Given the description of an element on the screen output the (x, y) to click on. 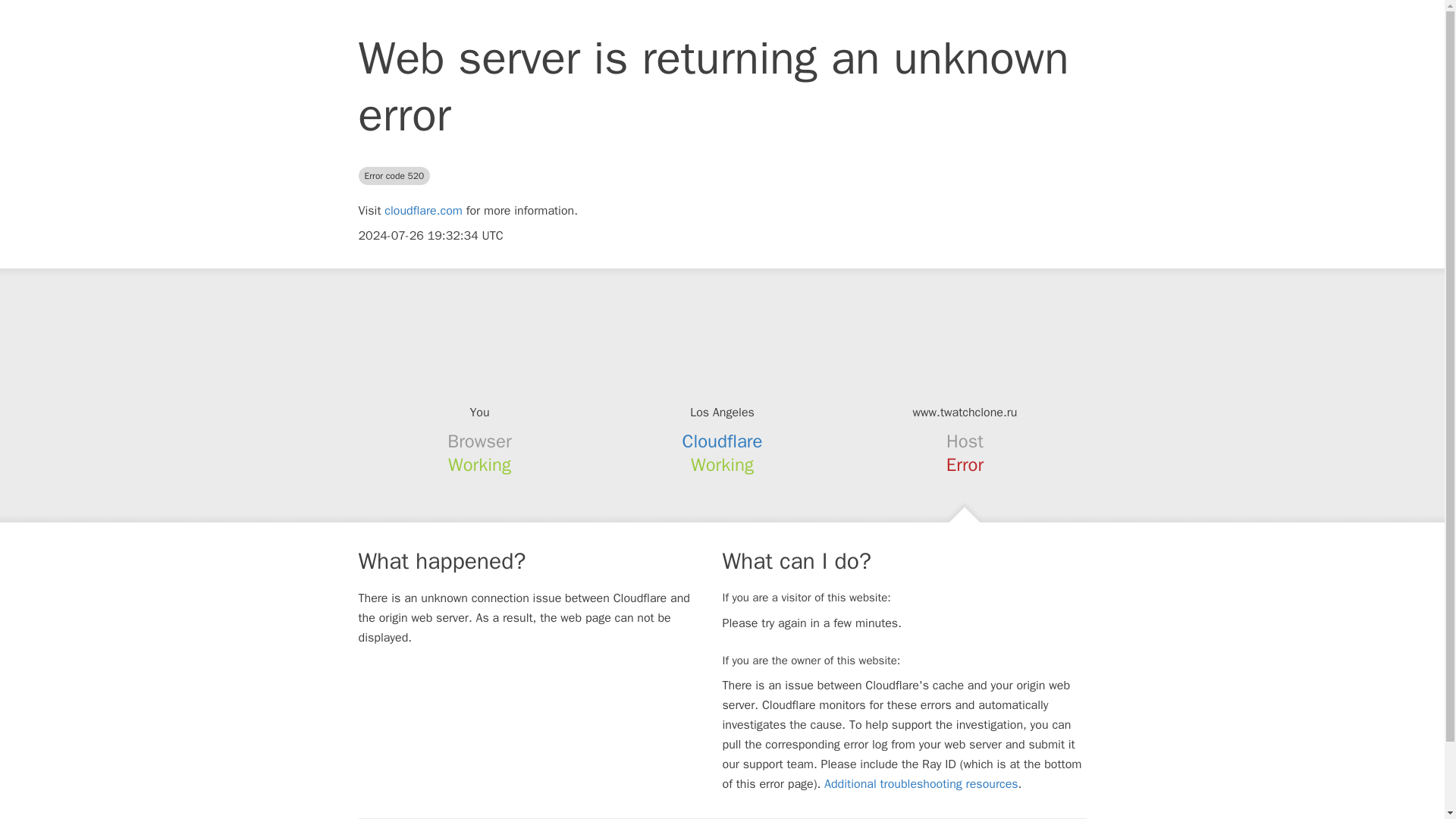
Cloudflare (722, 440)
cloudflare.com (423, 210)
Additional troubleshooting resources (920, 783)
